Given the description of an element on the screen output the (x, y) to click on. 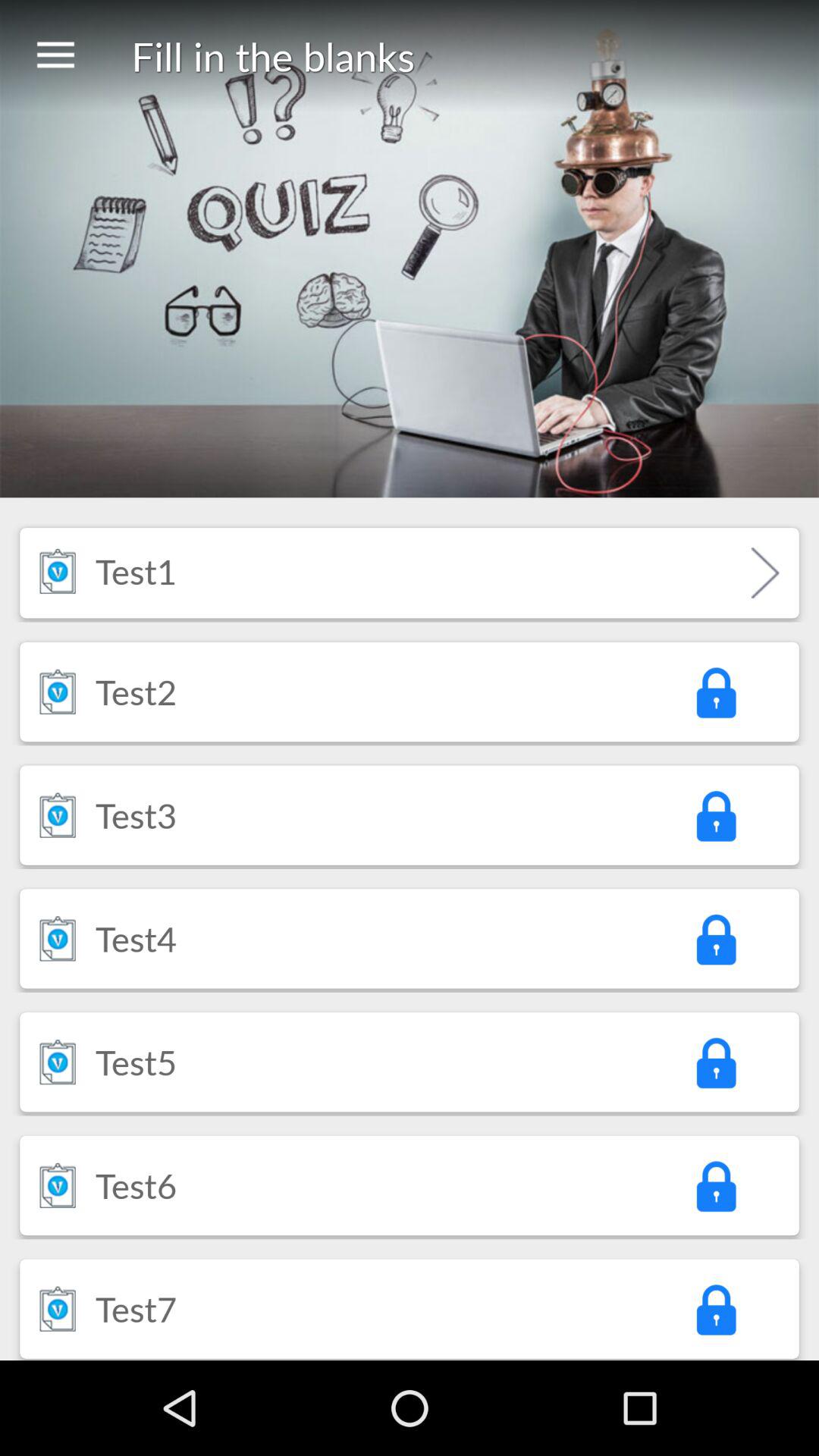
click icon next to test4 (715, 938)
